Given the description of an element on the screen output the (x, y) to click on. 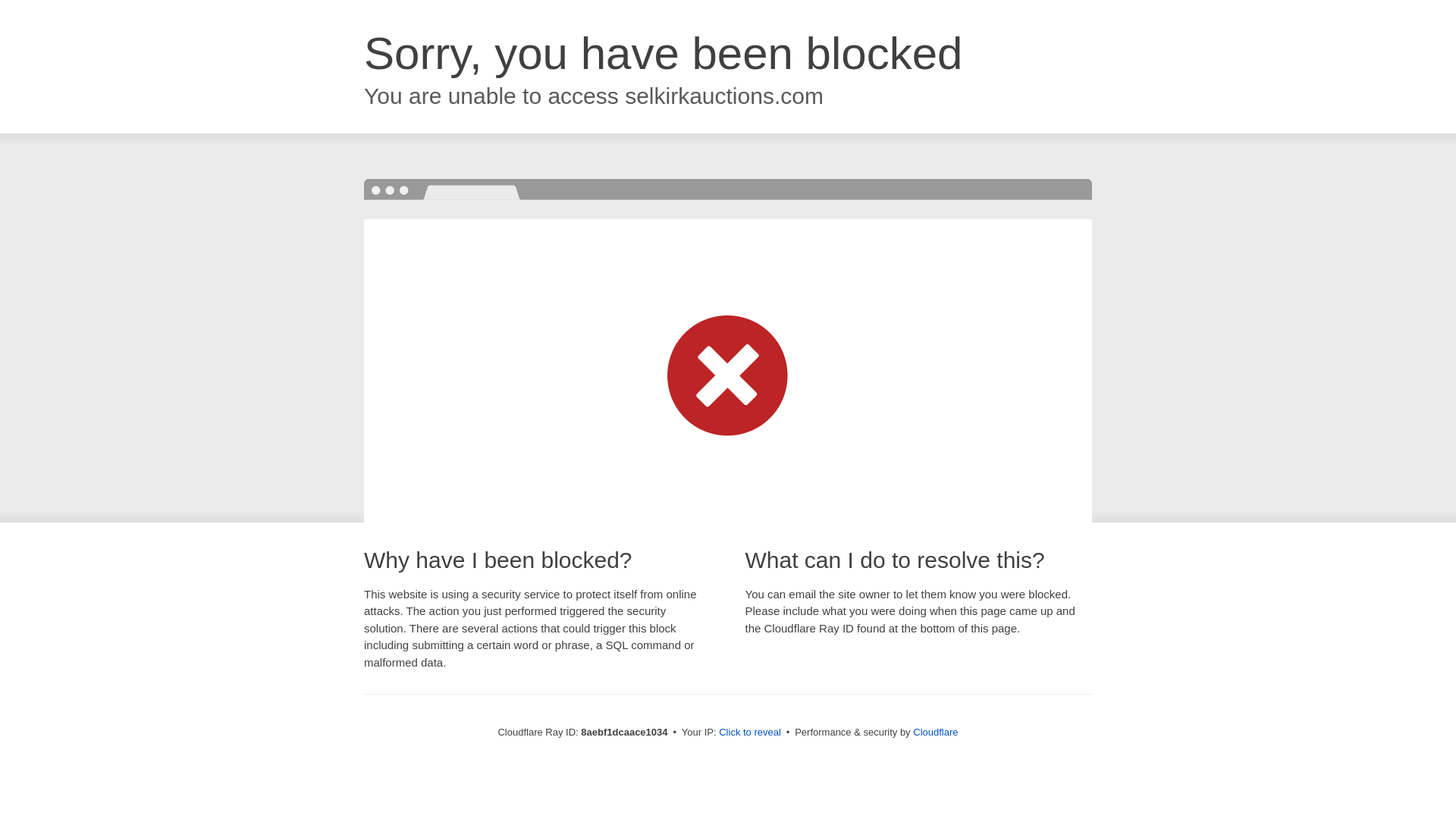
Click to reveal (749, 732)
Cloudflare (935, 731)
